Given the description of an element on the screen output the (x, y) to click on. 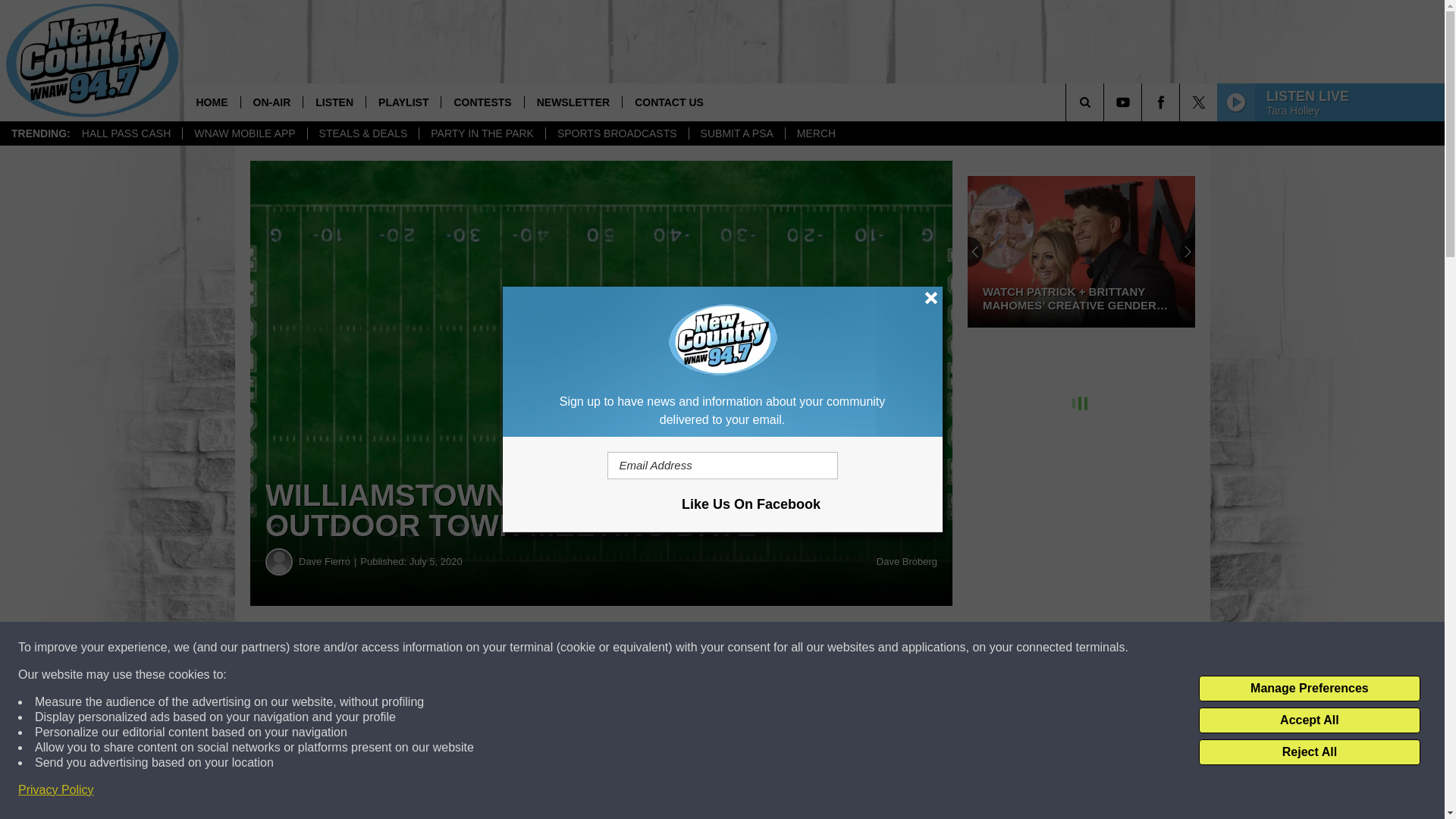
Email Address (722, 465)
CONTACT US (668, 102)
ON-AIR (271, 102)
HALL PASS CASH (126, 133)
HOME (211, 102)
LISTEN (333, 102)
Share on Twitter (741, 647)
SEARCH (1106, 102)
Reject All (1309, 751)
SEARCH (1106, 102)
SPORTS BROADCASTS (616, 133)
Privacy Policy (55, 789)
NEWSLETTER (572, 102)
Manage Preferences (1309, 688)
Accept All (1309, 720)
